Given the description of an element on the screen output the (x, y) to click on. 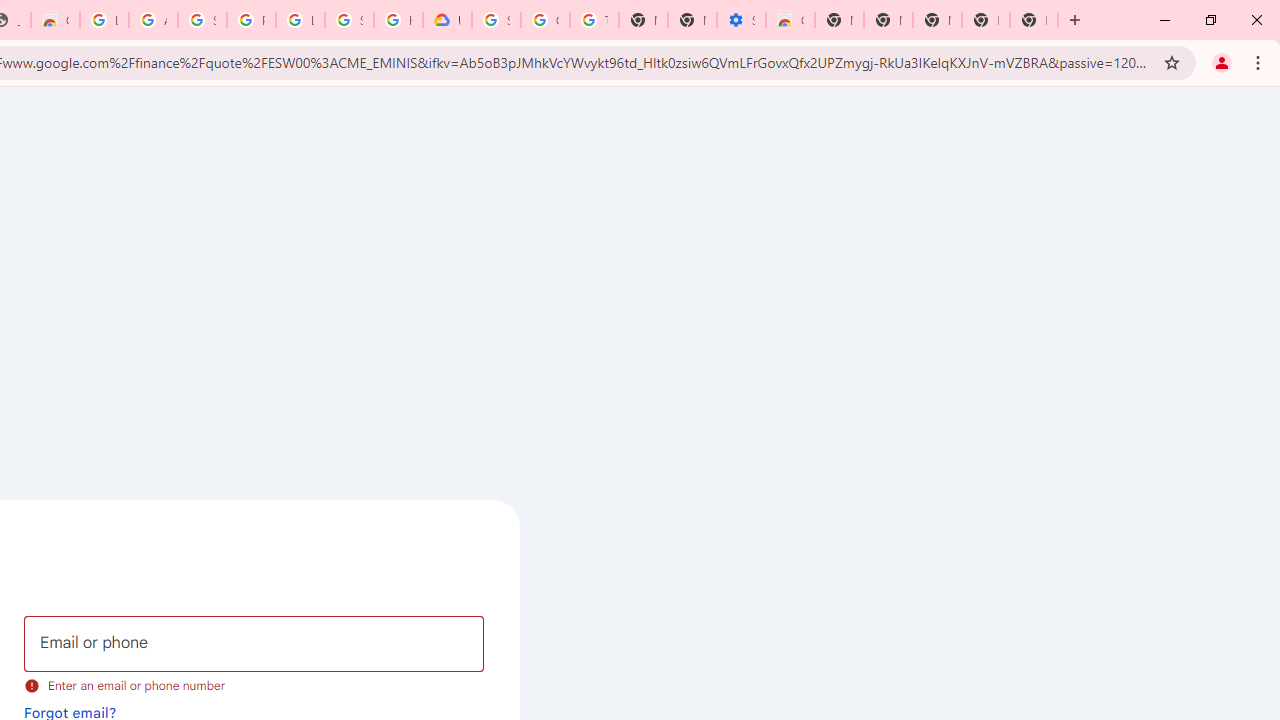
Chrome Web Store - Accessibility extensions (790, 20)
New Tab (1033, 20)
Turn cookies on or off - Computer - Google Account Help (594, 20)
New Tab (839, 20)
Ad Settings (153, 20)
Chrome Web Store - Household (55, 20)
Sign in - Google Accounts (201, 20)
Settings - Accessibility (740, 20)
